Given the description of an element on the screen output the (x, y) to click on. 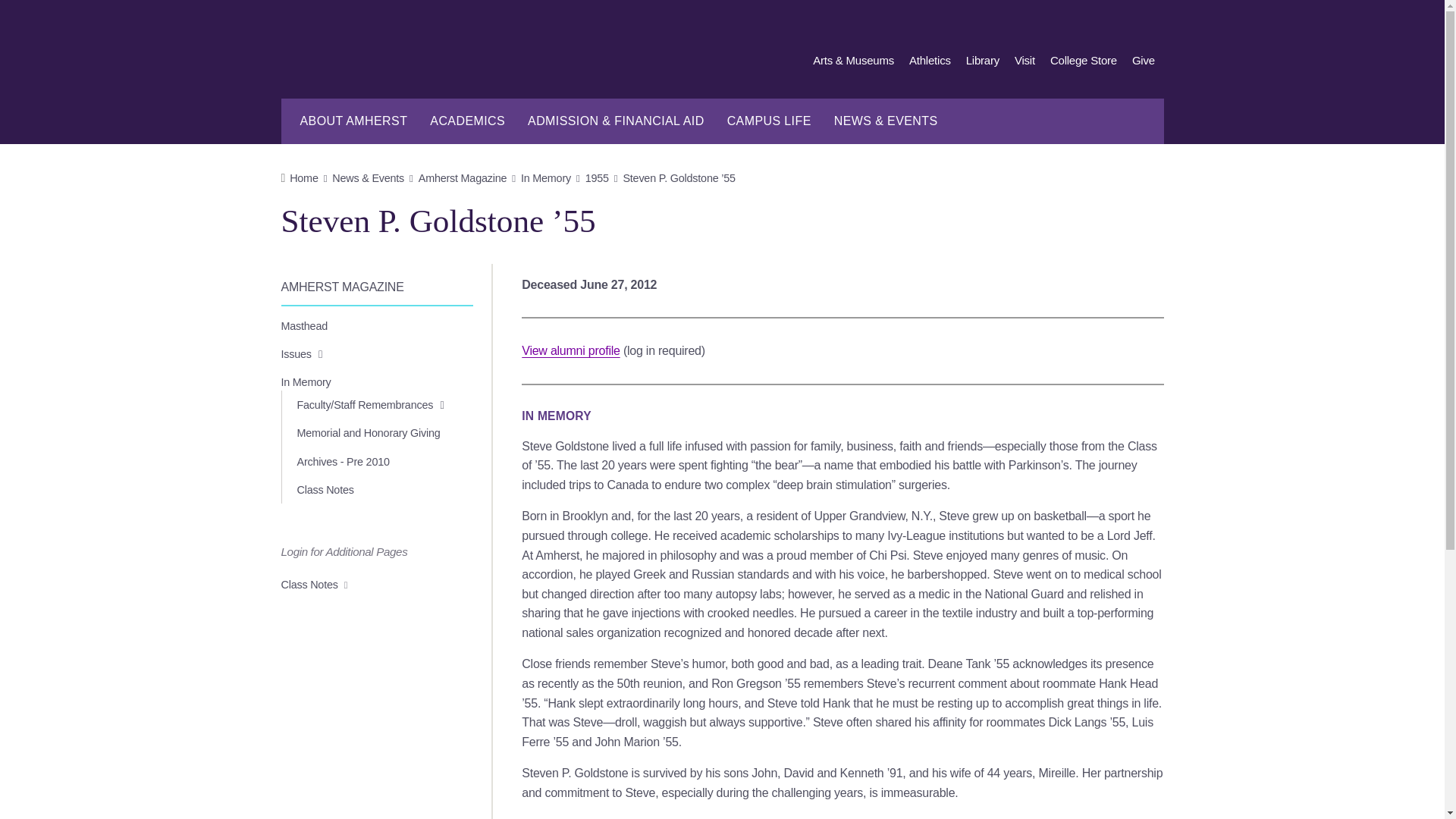
Give (1143, 60)
Visit (1024, 60)
Amherst College (410, 64)
ABOUT AMHERST (353, 121)
Library (982, 60)
CAMPUS LIFE (768, 121)
College Store (1082, 60)
Athletics (929, 60)
ACADEMICS (467, 121)
